Given the description of an element on the screen output the (x, y) to click on. 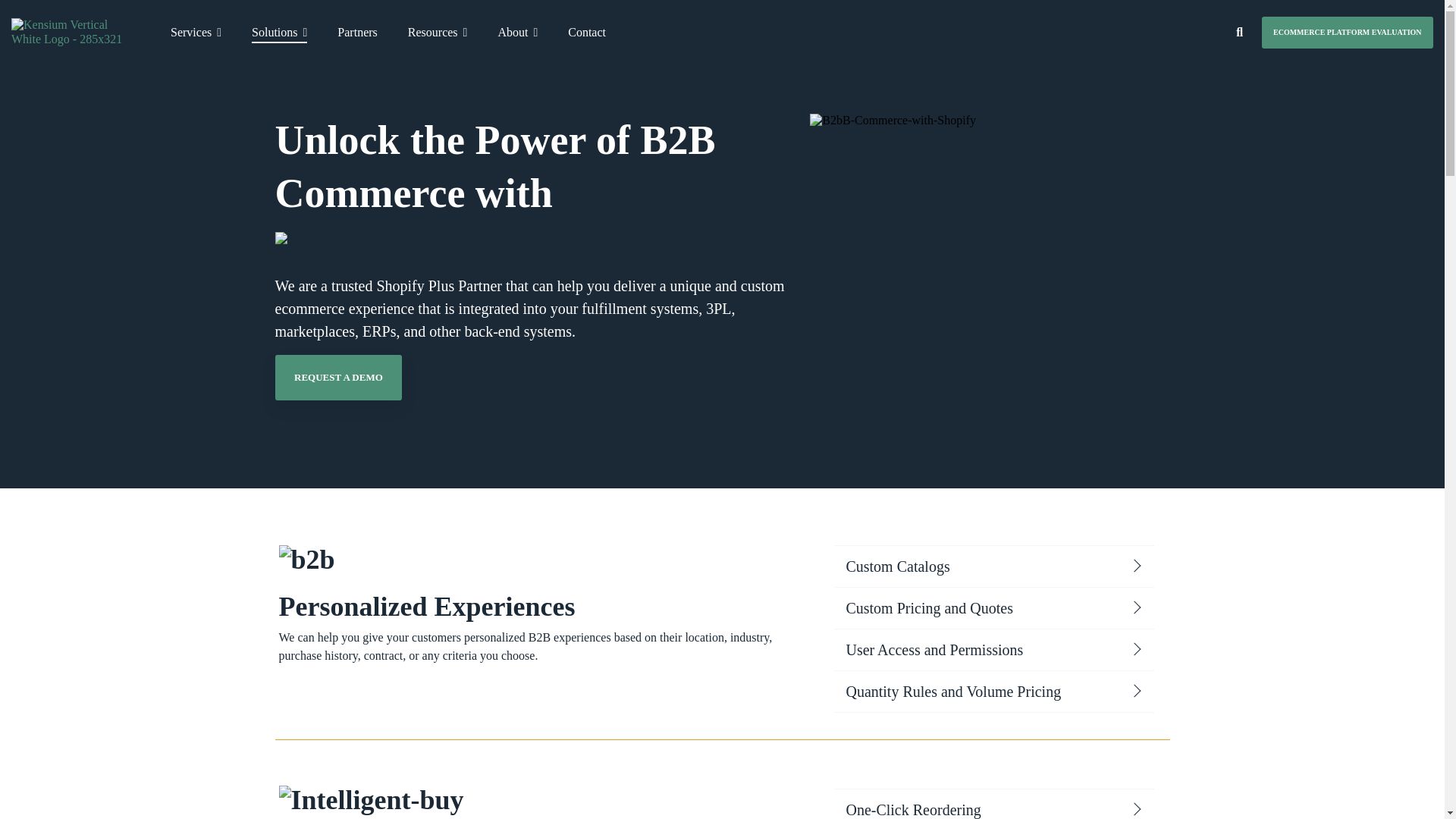
Partners (357, 31)
Resources (437, 31)
About (517, 31)
Contact (586, 31)
Services (195, 31)
Solutions (279, 31)
ECOMMERCE PLATFORM EVALUATION (1347, 32)
Kensium Vertical White Logo - 285x321 (73, 31)
